Given the description of an element on the screen output the (x, y) to click on. 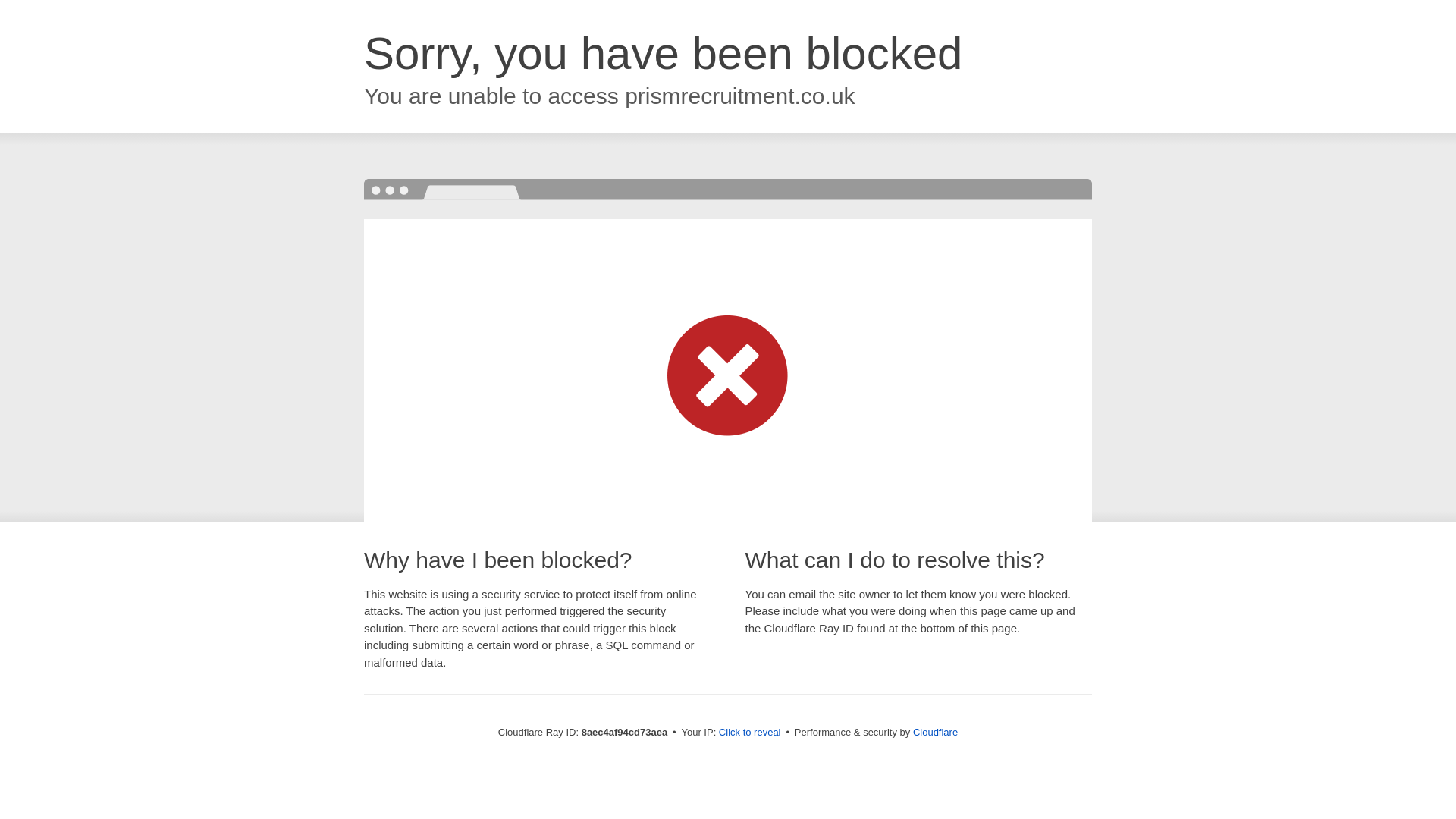
Cloudflare (935, 731)
Click to reveal (749, 732)
